Given the description of an element on the screen output the (x, y) to click on. 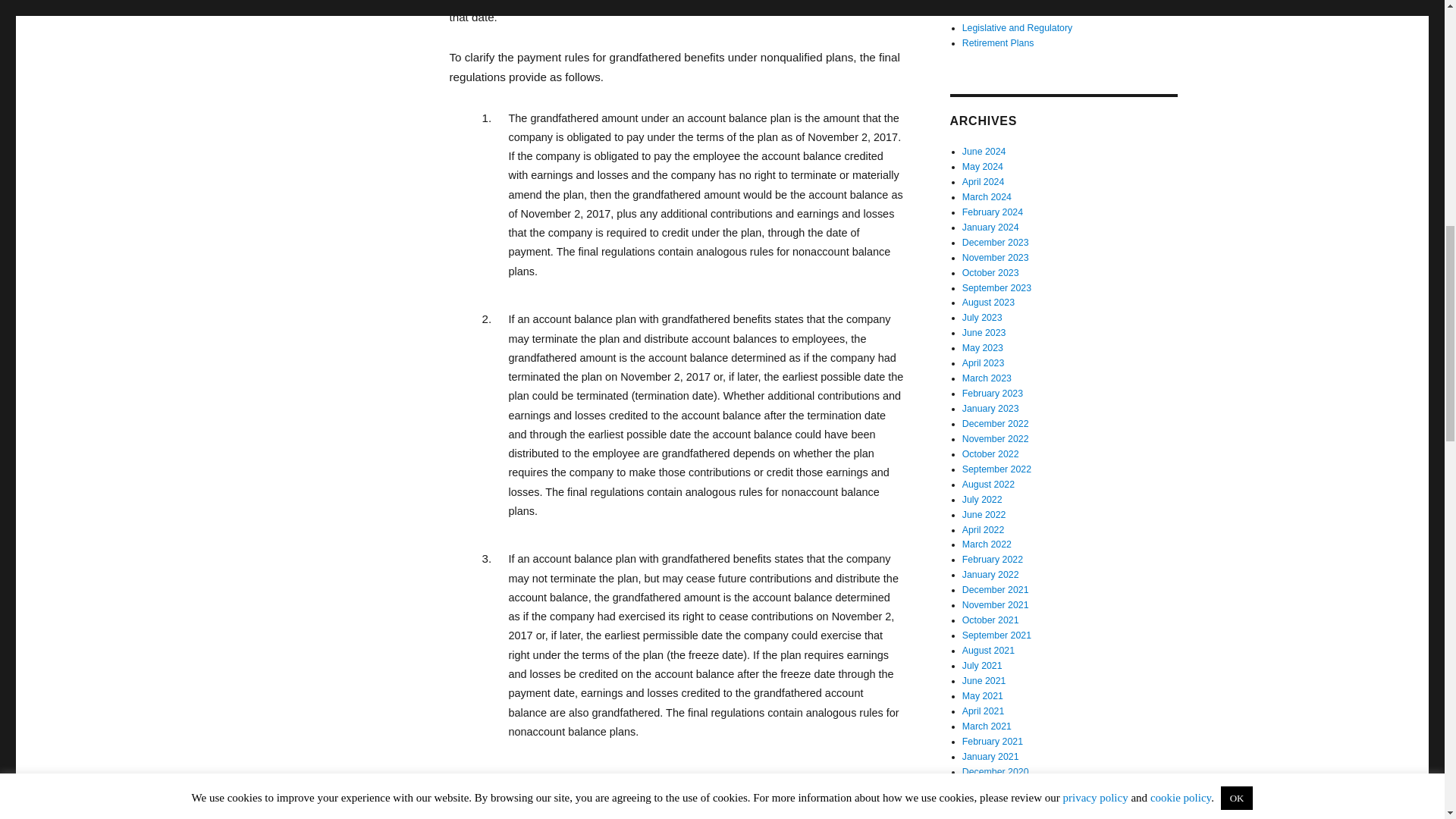
January 2024 (990, 226)
June 2024 (984, 151)
April 2024 (983, 181)
March 2024 (986, 196)
Retirement Plans (997, 42)
February 2024 (992, 212)
Legislative and Regulatory (1016, 27)
Health and Welfare Plans (1015, 12)
General (978, 1)
May 2024 (982, 166)
